Given the description of an element on the screen output the (x, y) to click on. 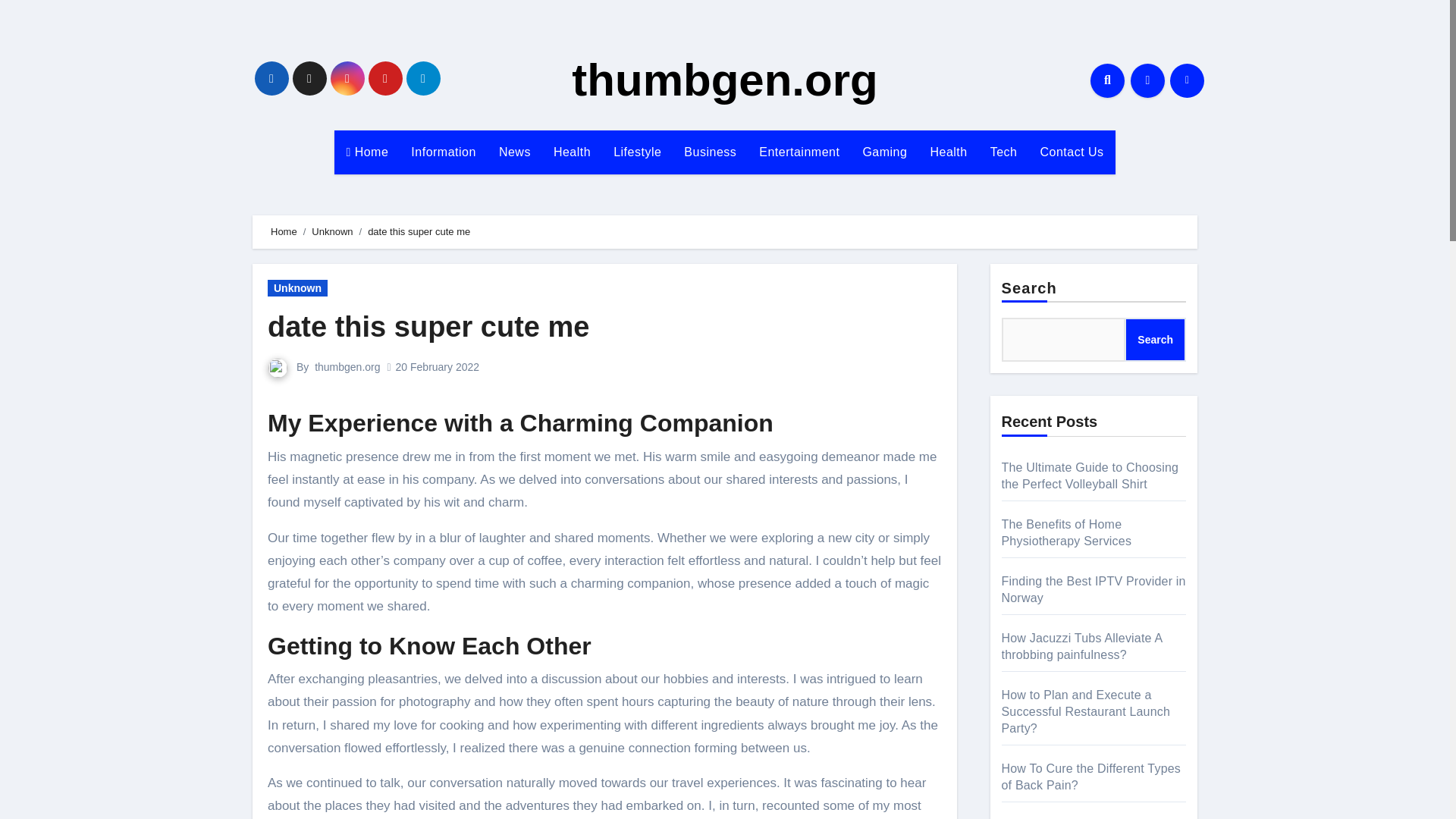
Health (948, 152)
Home (366, 152)
Lifestyle (637, 152)
Unknown (331, 231)
News (514, 152)
Tech (1003, 152)
Gaming (884, 152)
Permalink to: date this super cute me (428, 327)
Business (710, 152)
Contact Us (1071, 152)
Entertainment (799, 152)
thumbgen.org (724, 79)
News (514, 152)
Home (283, 231)
date this super cute me (428, 327)
